Given the description of an element on the screen output the (x, y) to click on. 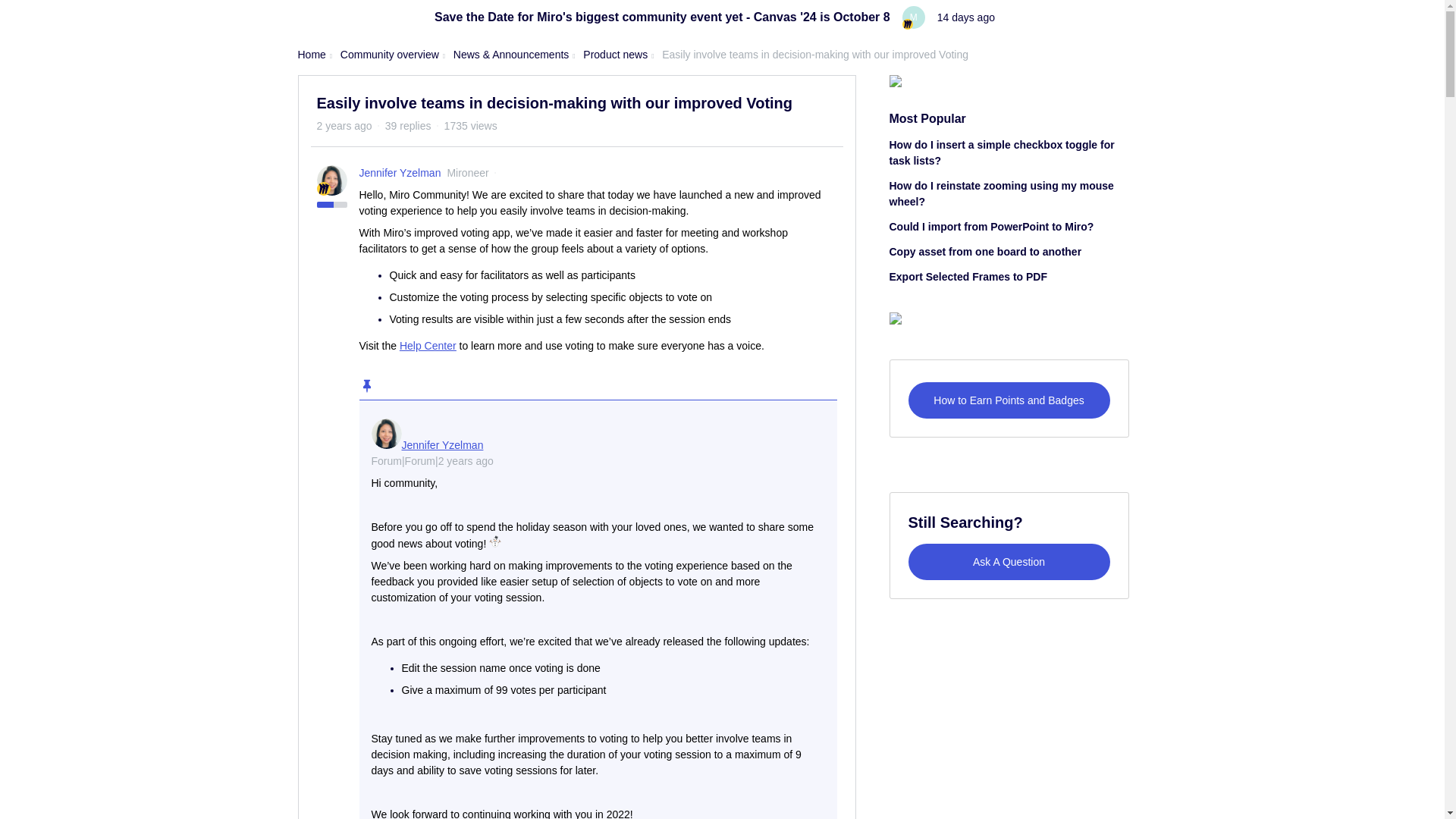
Product news (615, 54)
Mironeer (907, 23)
39 replies (407, 125)
Home (310, 54)
Community overview (389, 54)
Jennifer Yzelman (442, 444)
Mironeer (323, 188)
Help Center (427, 345)
M (913, 16)
Mironeer (466, 173)
Jennifer Yzelman (400, 172)
